Given the description of an element on the screen output the (x, y) to click on. 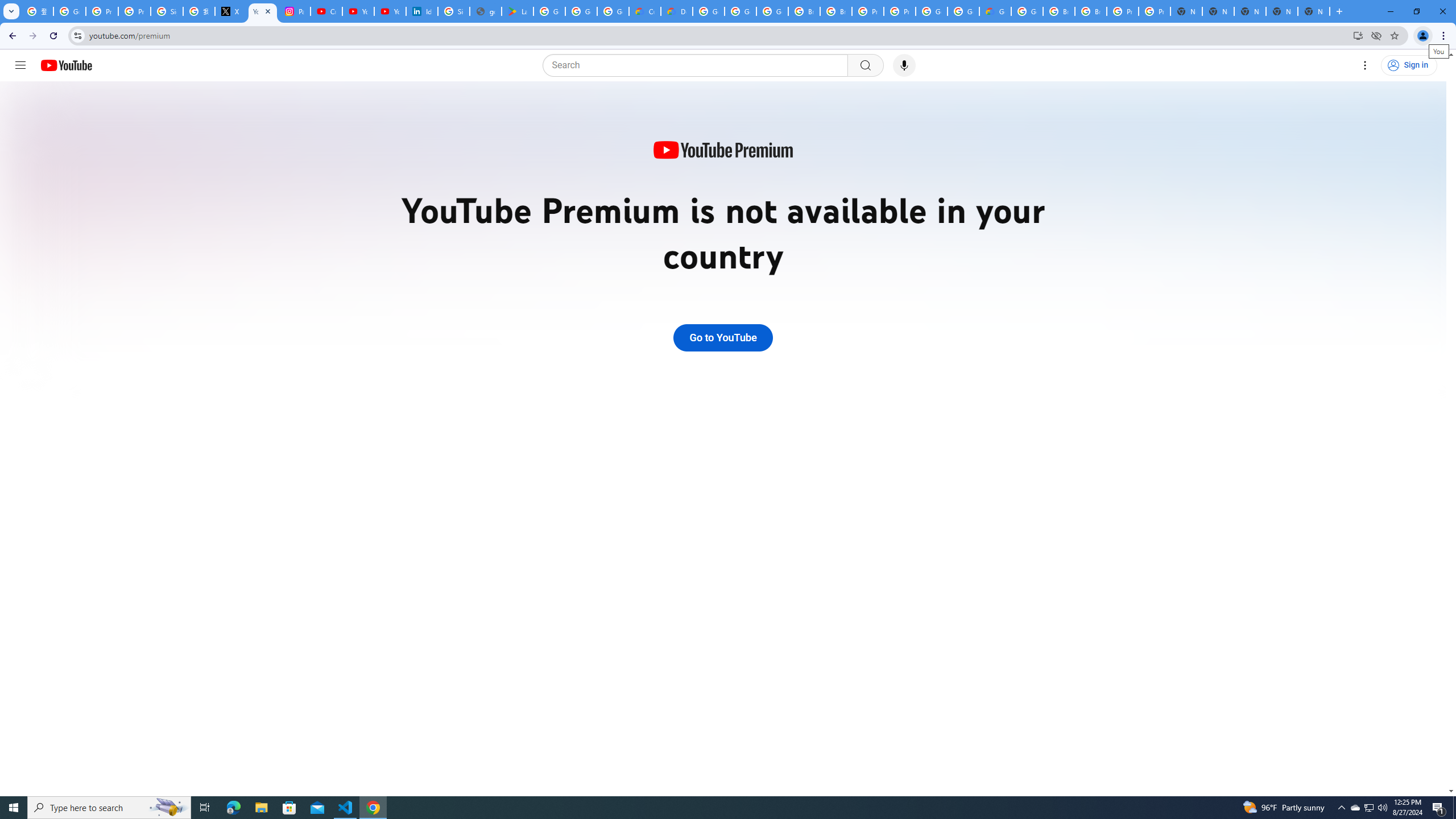
YouTube Home (66, 65)
google_privacy_policy_en.pdf (485, 11)
New Tab (1313, 11)
Browse Chrome as a guest - Computer - Google Chrome Help (804, 11)
Google Cloud Estimate Summary (995, 11)
